Given the description of an element on the screen output the (x, y) to click on. 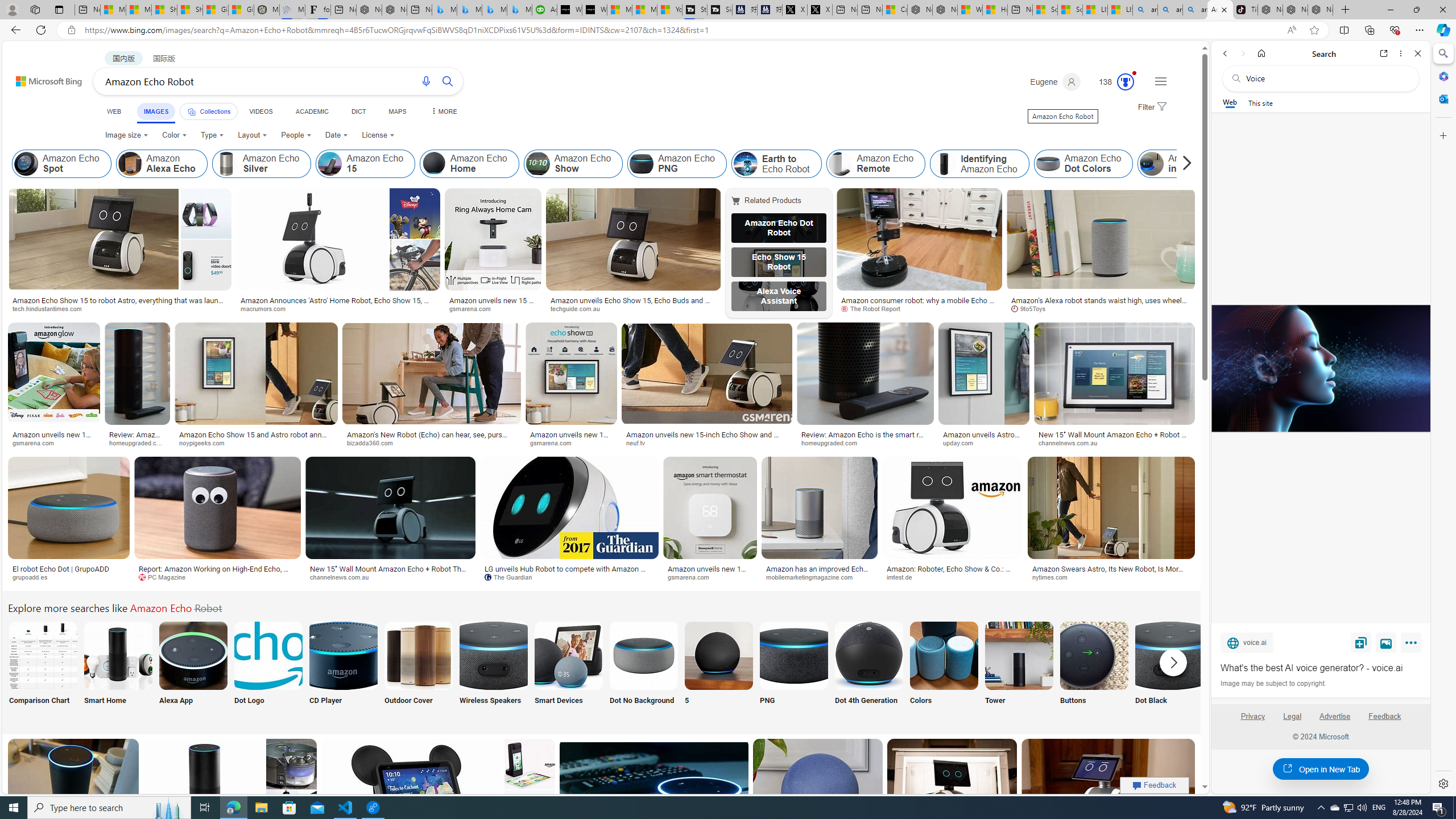
Amazon Echo Tower (1018, 654)
PC Magazine (165, 576)
Color (173, 135)
